Given the description of an element on the screen output the (x, y) to click on. 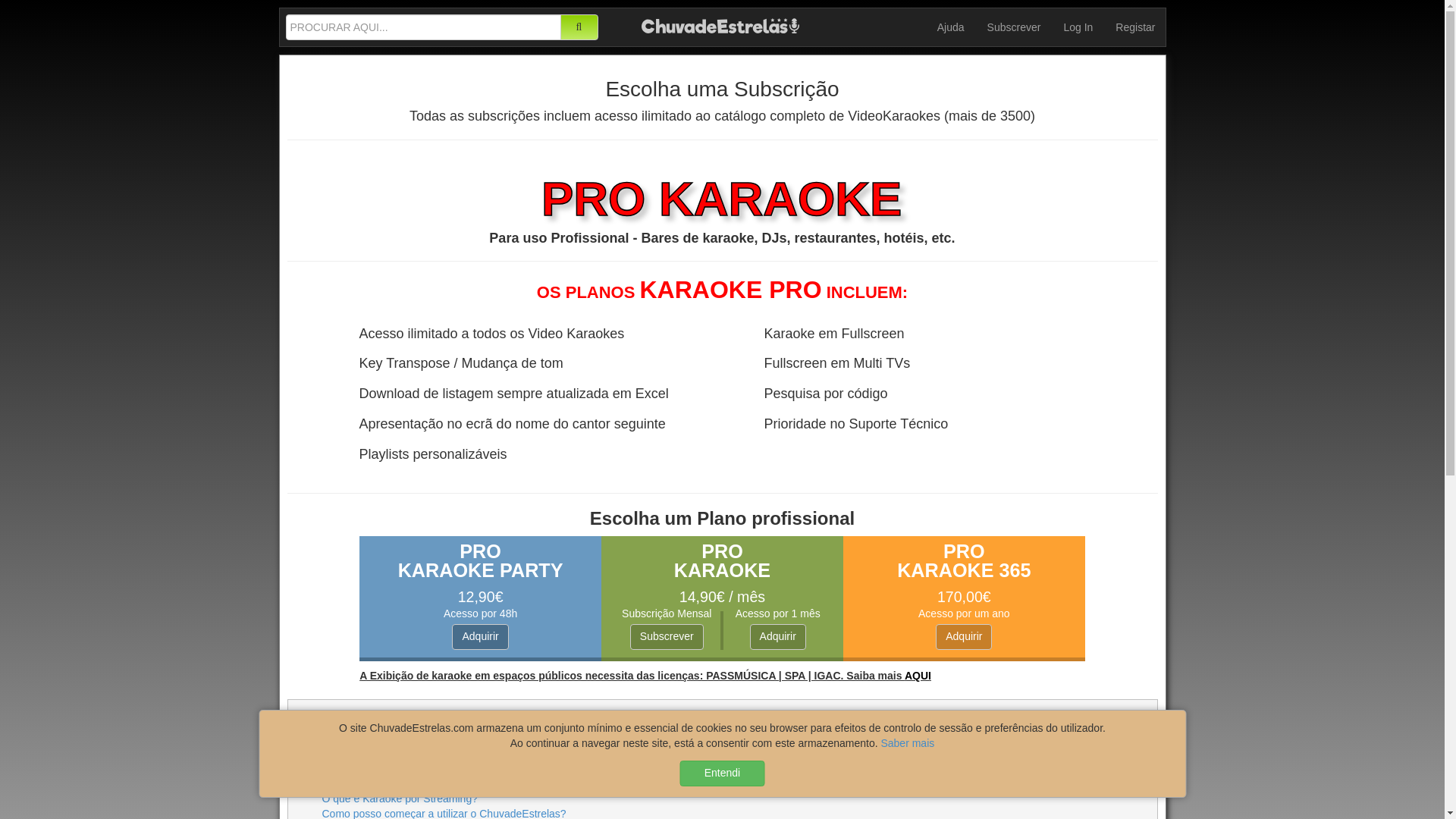
Registar (1134, 26)
Ajuda (950, 26)
Subscrever (1013, 26)
AQUI (917, 675)
Adquirir (479, 637)
Adquirir (777, 637)
Adquirir (963, 637)
Subscrever (666, 637)
Home (720, 24)
Log In (1077, 26)
